Given the description of an element on the screen output the (x, y) to click on. 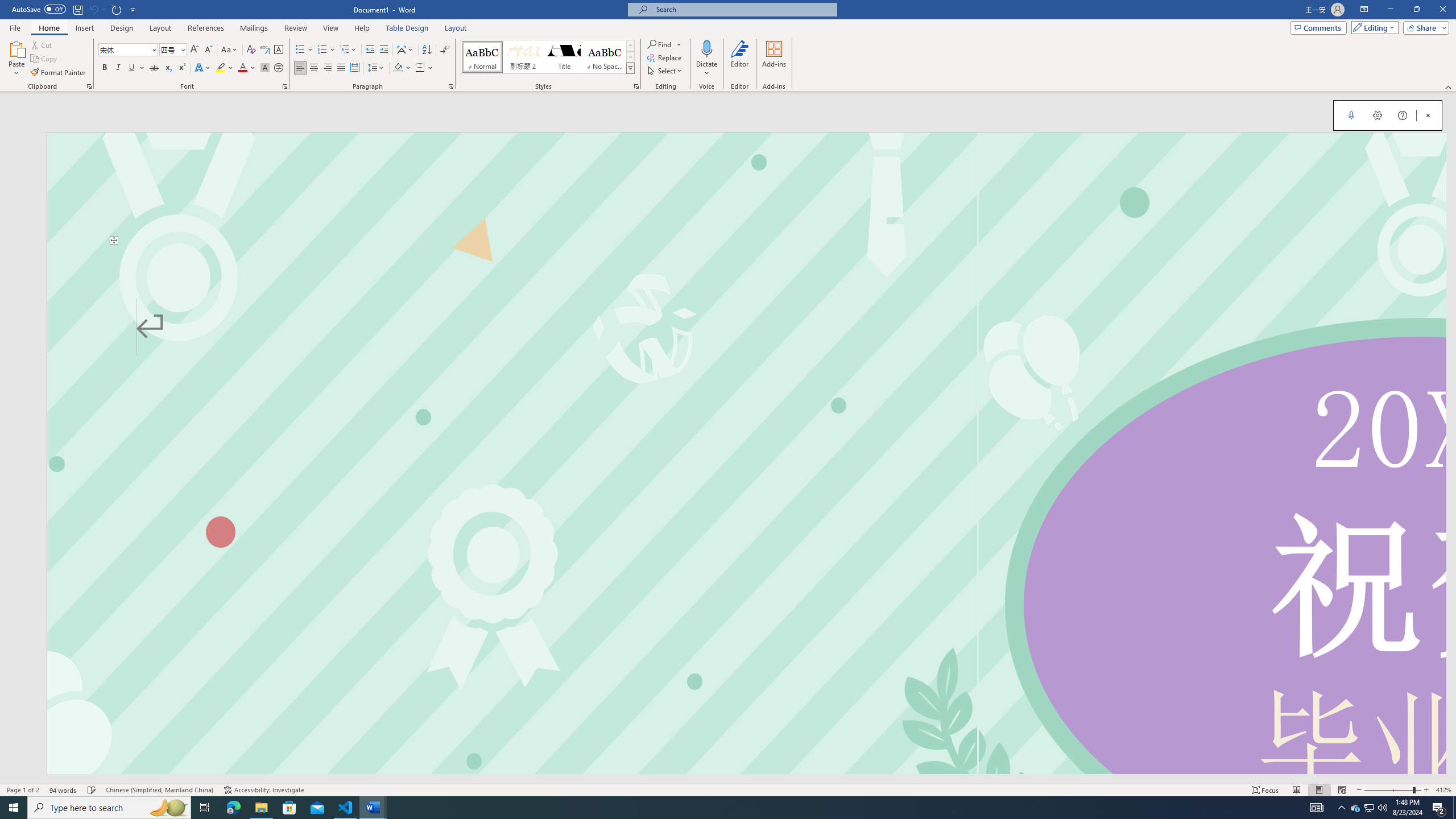
Line and Paragraph Spacing (376, 67)
Align Left (300, 67)
Cut (42, 44)
Start Dictation (1350, 115)
Office Clipboard... (88, 85)
Increase Indent (383, 49)
Title (564, 56)
